Given the description of an element on the screen output the (x, y) to click on. 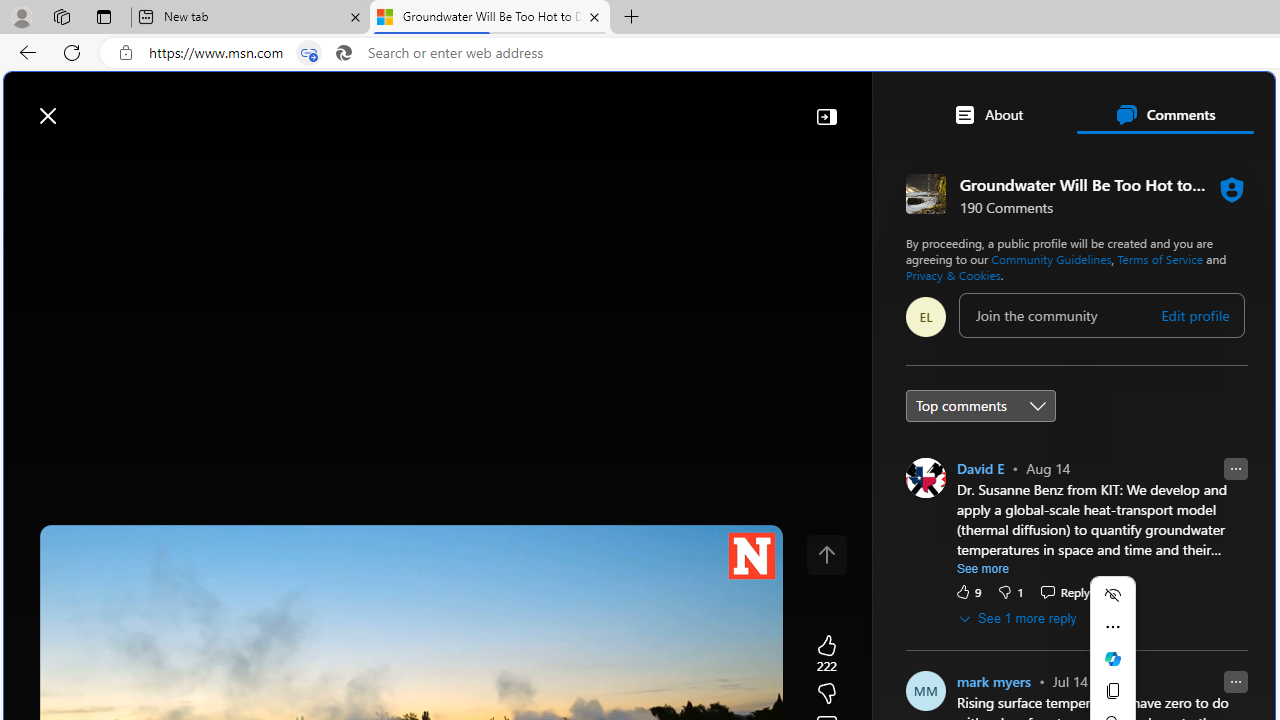
Sort comments by (980, 404)
Tabs in split screen (308, 53)
Privacy & Cookies (952, 273)
